Given the description of an element on the screen output the (x, y) to click on. 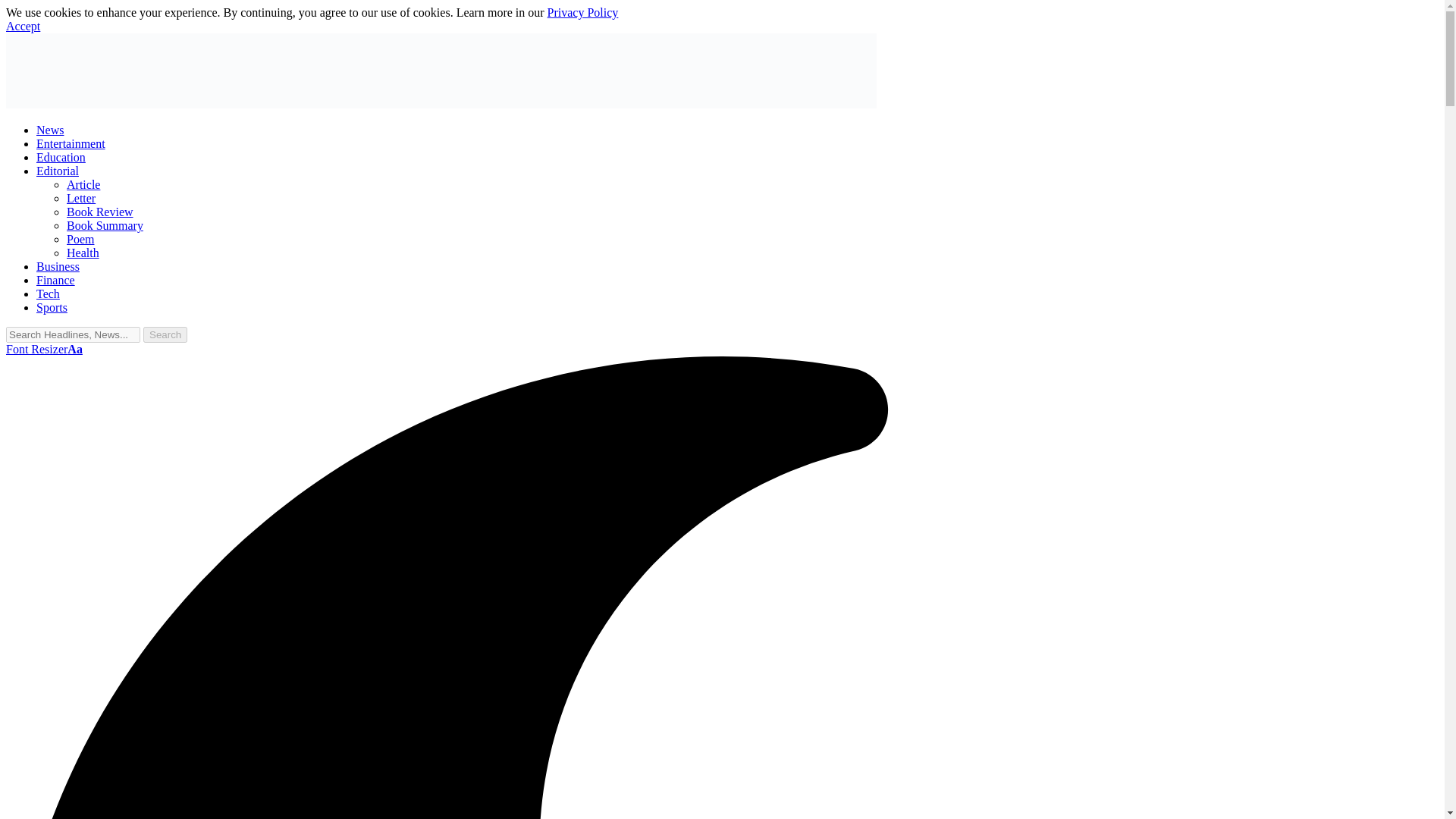
Accept (22, 25)
Poem (80, 238)
Business (58, 266)
Education (60, 156)
Privacy Policy (582, 11)
Editorial (57, 170)
Tech (47, 293)
News (50, 129)
Article (83, 184)
Font ResizerAa (43, 349)
Search (164, 334)
Book Review (99, 211)
Health (82, 252)
Finance (55, 279)
Book Summary (104, 225)
